Given the description of an element on the screen output the (x, y) to click on. 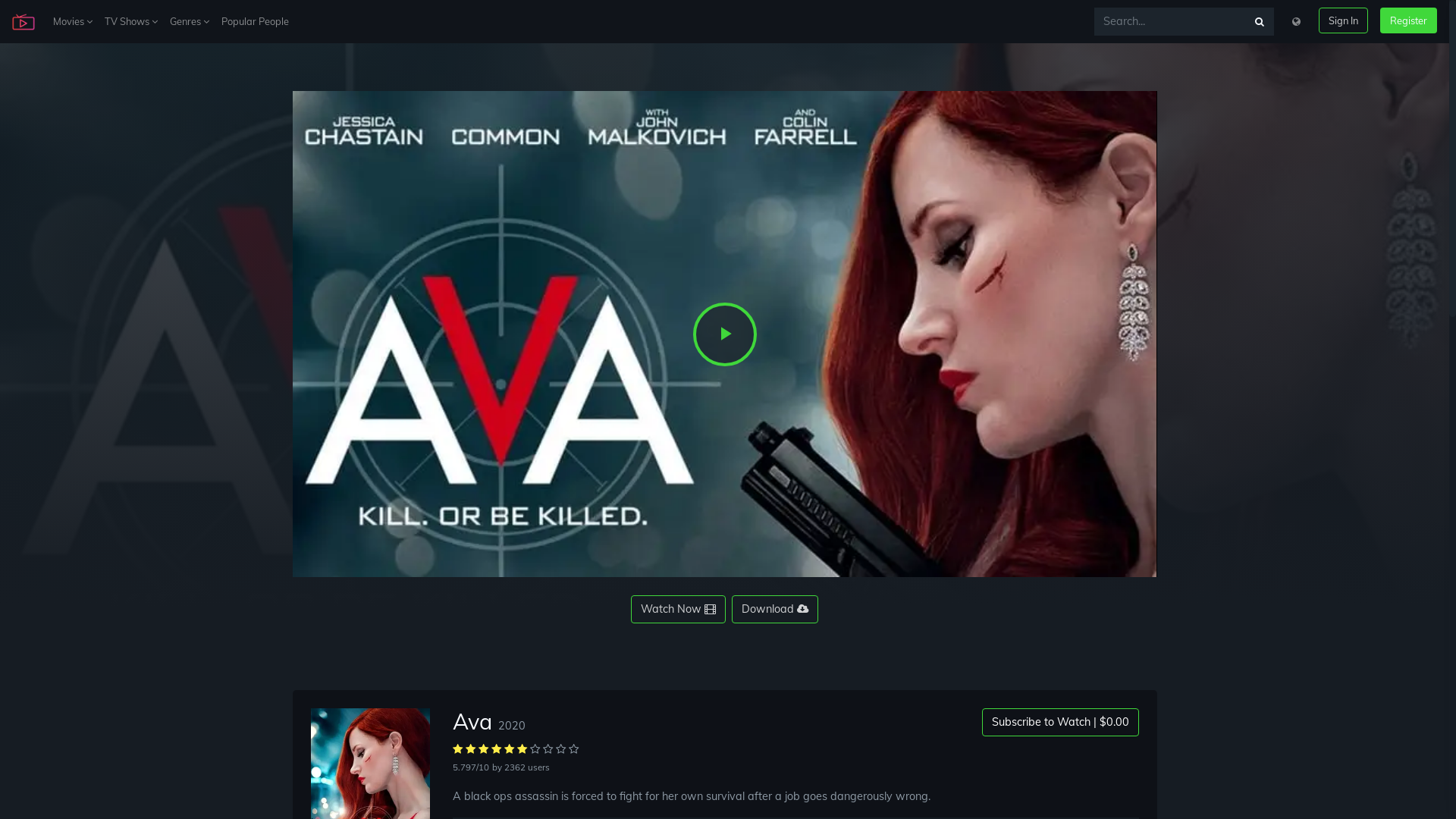
Popular People Element type: text (254, 20)
Play Video Element type: text (724, 334)
Register Element type: text (1408, 20)
Movies Element type: text (72, 20)
Watch Now Element type: text (677, 609)
Genres Element type: text (189, 20)
Subscribe to Watch | $0.00 Element type: text (1059, 722)
Download Element type: text (774, 609)
Sign In Element type: text (1343, 20)
TV Shows Element type: text (130, 20)
